Given the description of an element on the screen output the (x, y) to click on. 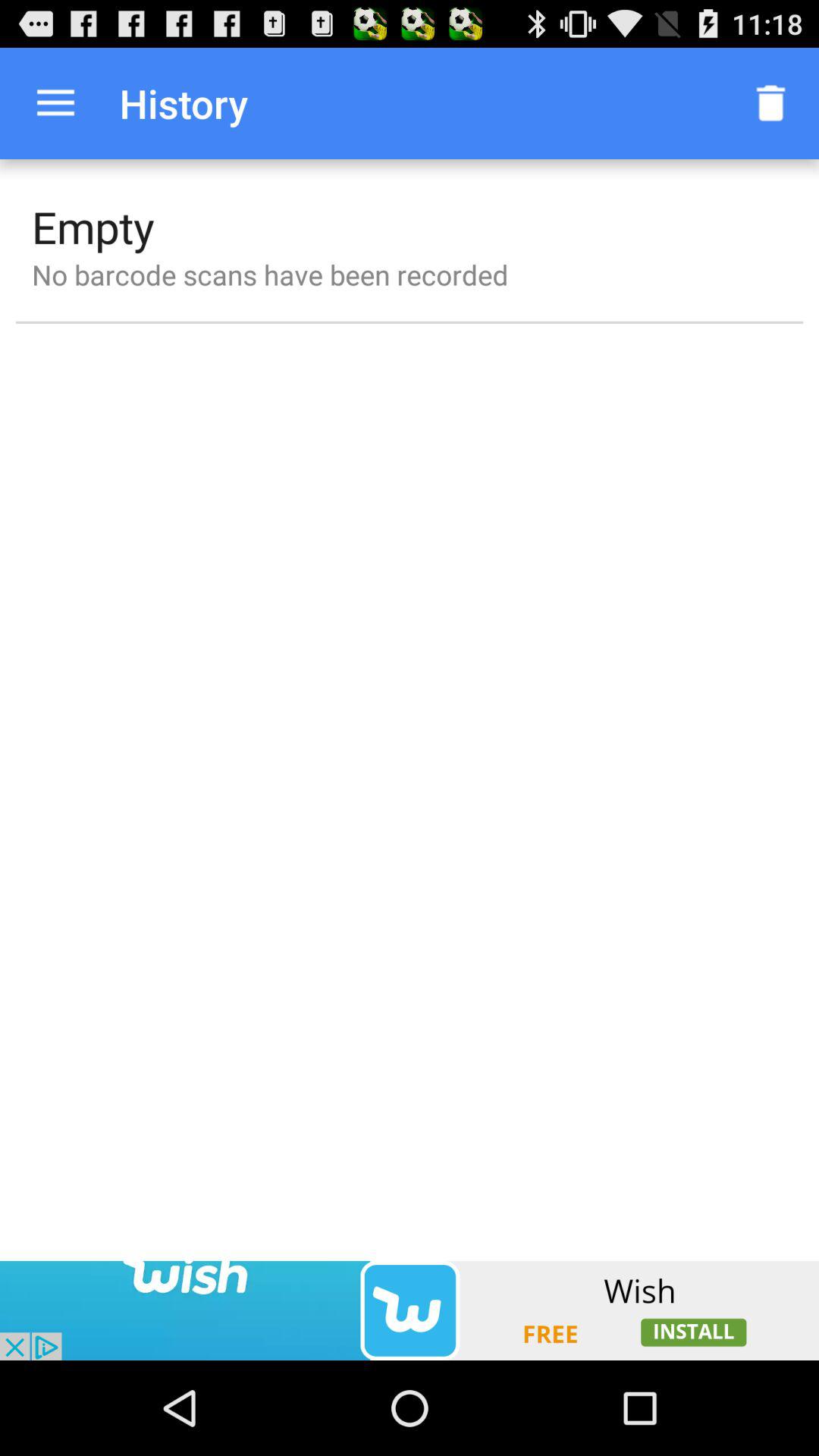
advertisement page (409, 1310)
